Given the description of an element on the screen output the (x, y) to click on. 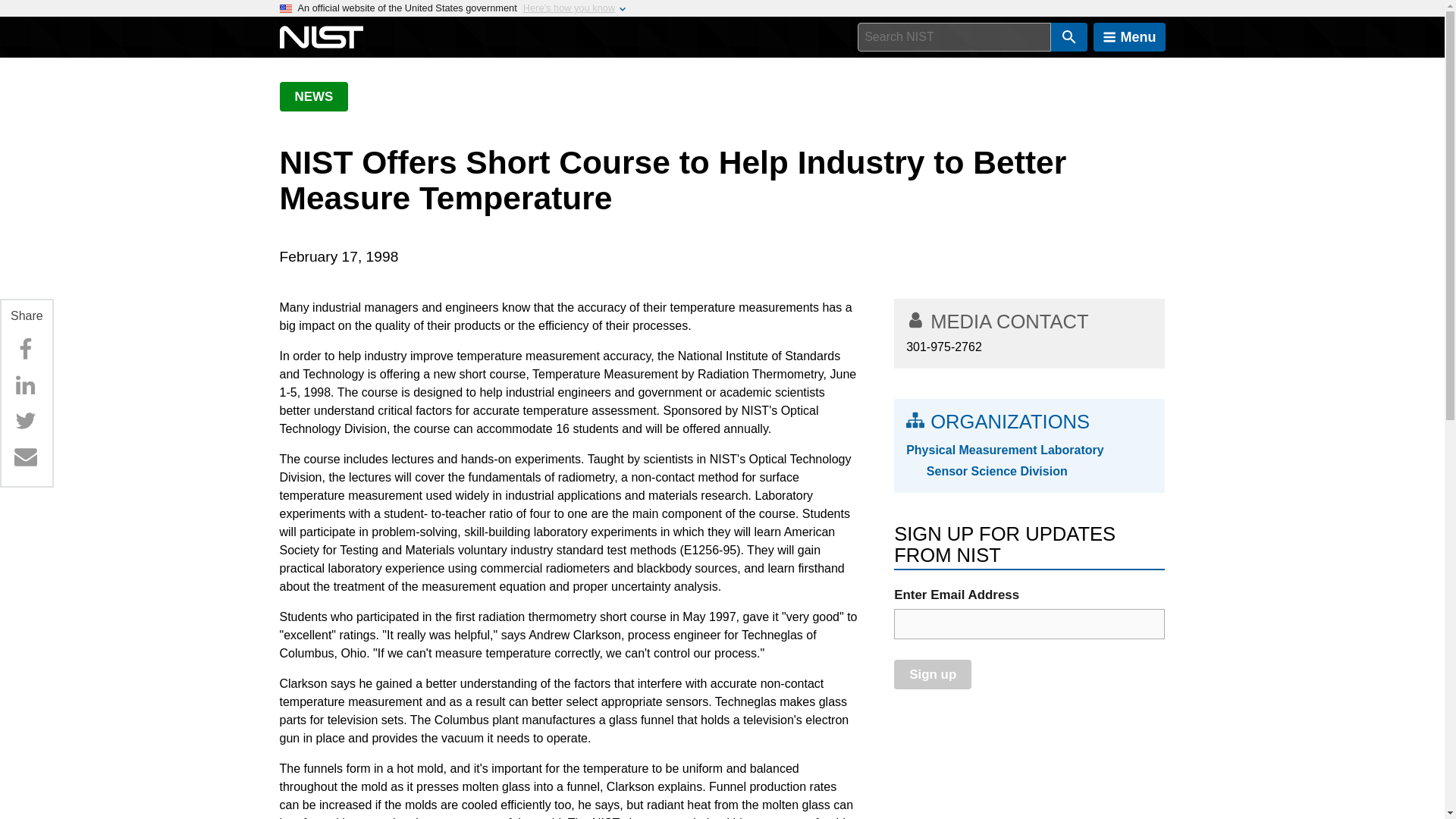
Sign up (932, 674)
Twitter (25, 420)
email (1028, 624)
Menu (1129, 36)
Facebook (25, 349)
NEWS (313, 96)
Physical Measurement Laboratory (1029, 450)
Linkedin (25, 385)
Sign up (932, 674)
National Institute of Standards and Technology (320, 36)
Email (25, 456)
Sensor Science Division (1039, 471)
